Given the description of an element on the screen output the (x, y) to click on. 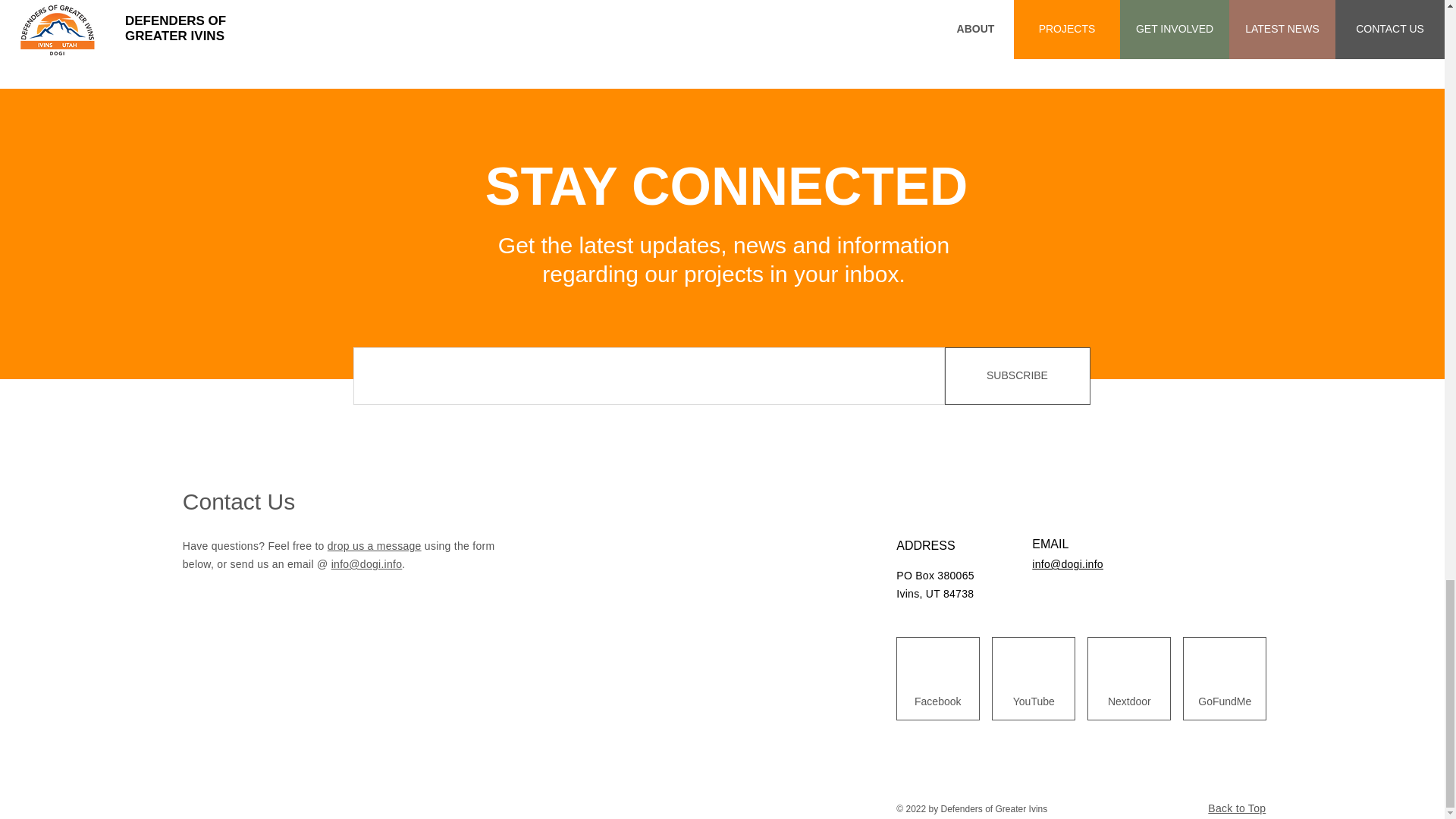
YouTube (1032, 701)
GoFundMe (1224, 701)
Contact Us (239, 501)
SUBSCRIBE (1017, 375)
Back to Top (1236, 808)
Nextdoor (1128, 701)
drop us a message (374, 545)
Facebook (937, 701)
